Given the description of an element on the screen output the (x, y) to click on. 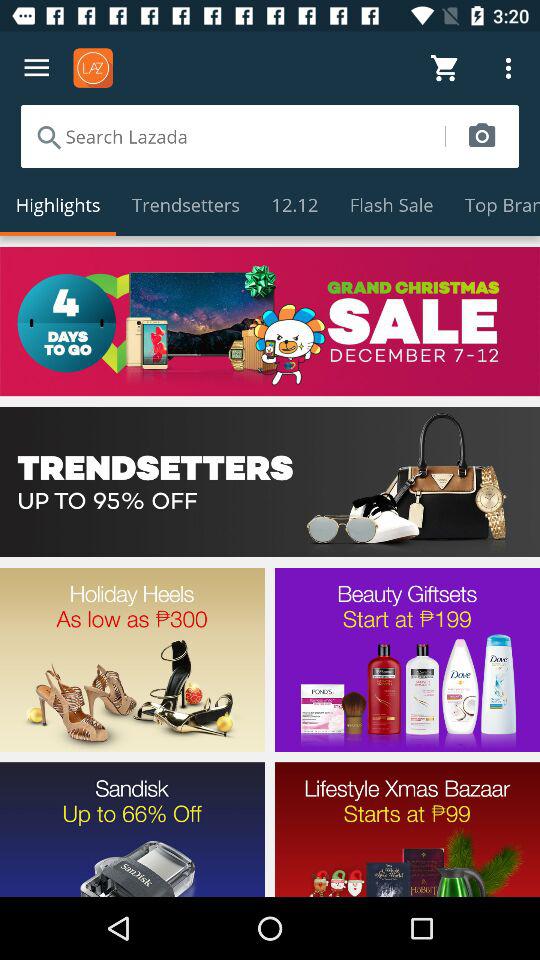
search the store (232, 136)
